Given the description of an element on the screen output the (x, y) to click on. 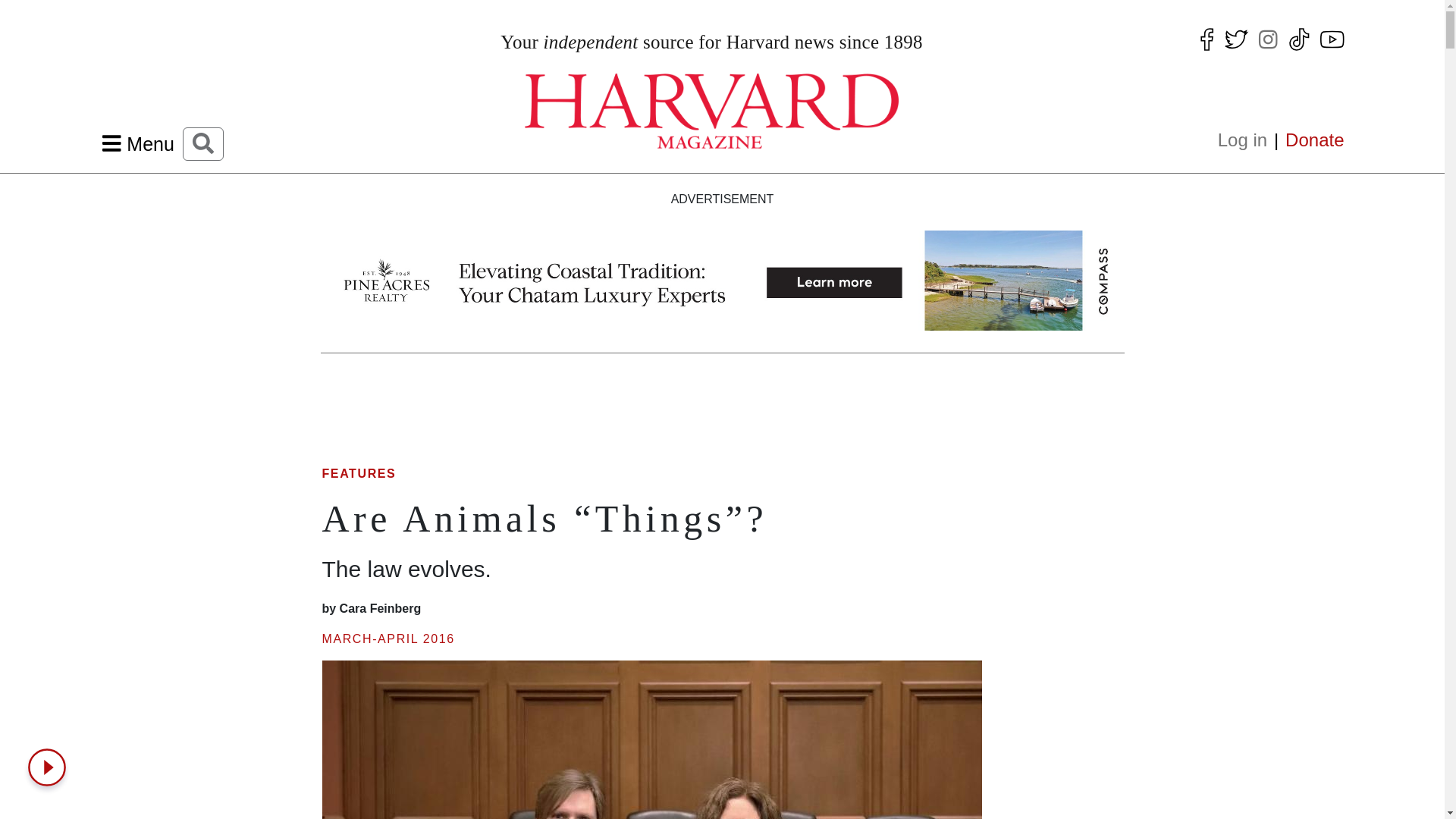
facebook (1205, 33)
Home (711, 111)
Menu (138, 143)
Log in (1246, 139)
Donate (1309, 139)
Trinity Audio Player (50, 768)
